Given the description of an element on the screen output the (x, y) to click on. 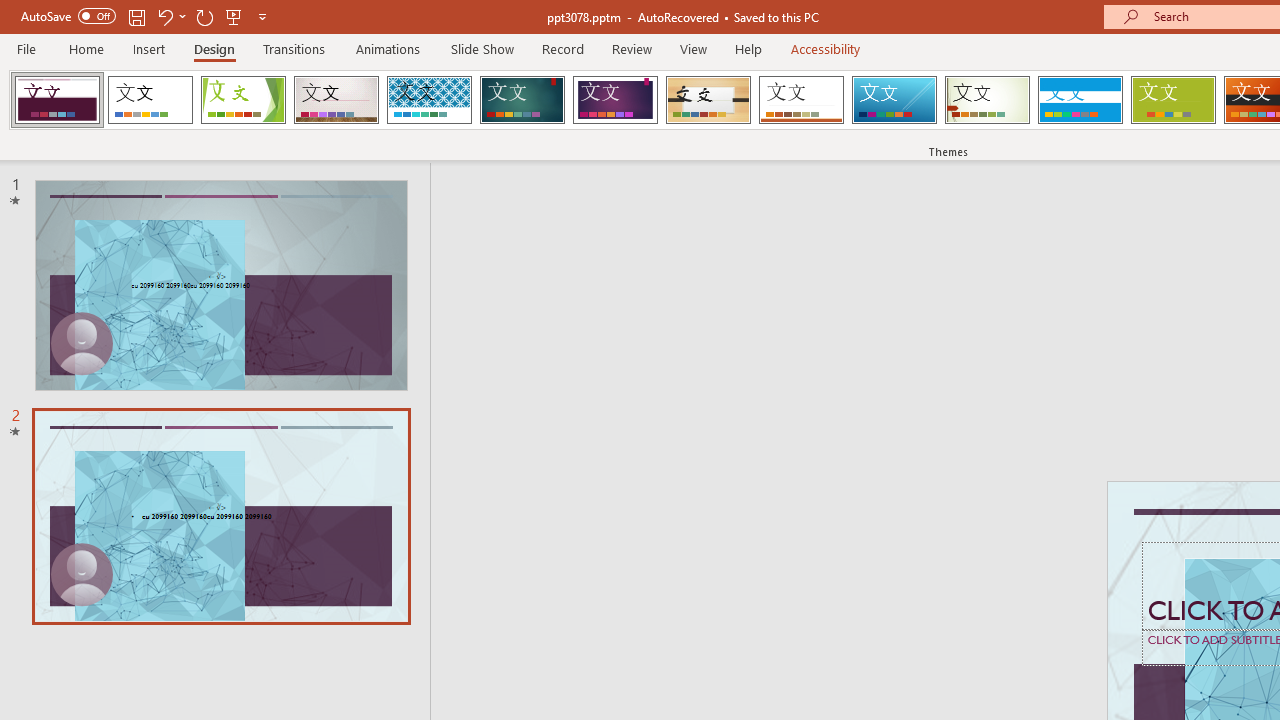
Facet (243, 100)
Basis (1172, 100)
